Given the description of an element on the screen output the (x, y) to click on. 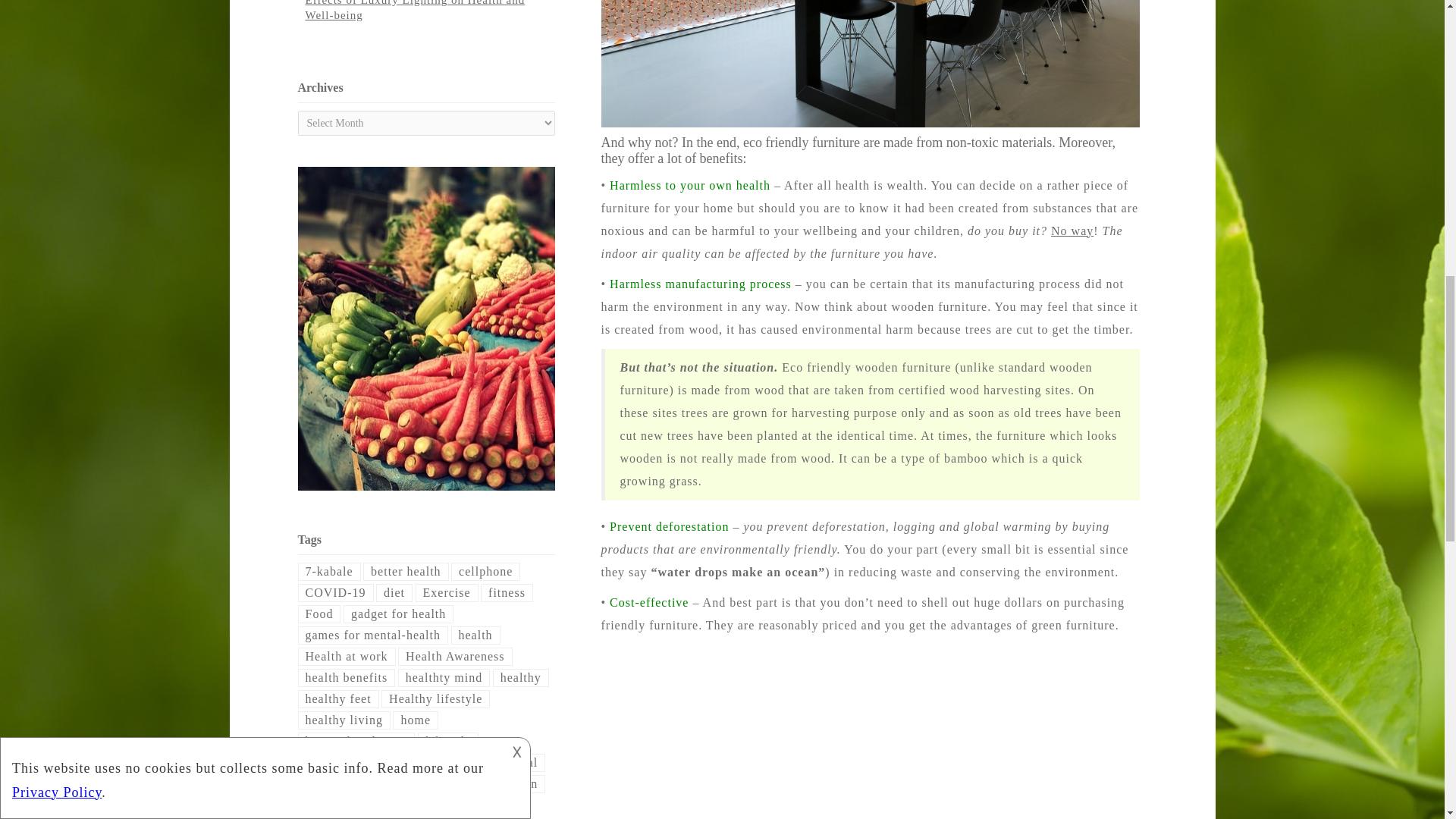
health (474, 635)
better health (405, 571)
health benefits (345, 678)
Health at work (345, 656)
Effects of Luxury Lighting on Health and Well-being (414, 10)
diet (393, 592)
Health Awareness (454, 656)
Exercise (446, 592)
cellphone (485, 571)
7-kabale (328, 571)
